Given the description of an element on the screen output the (x, y) to click on. 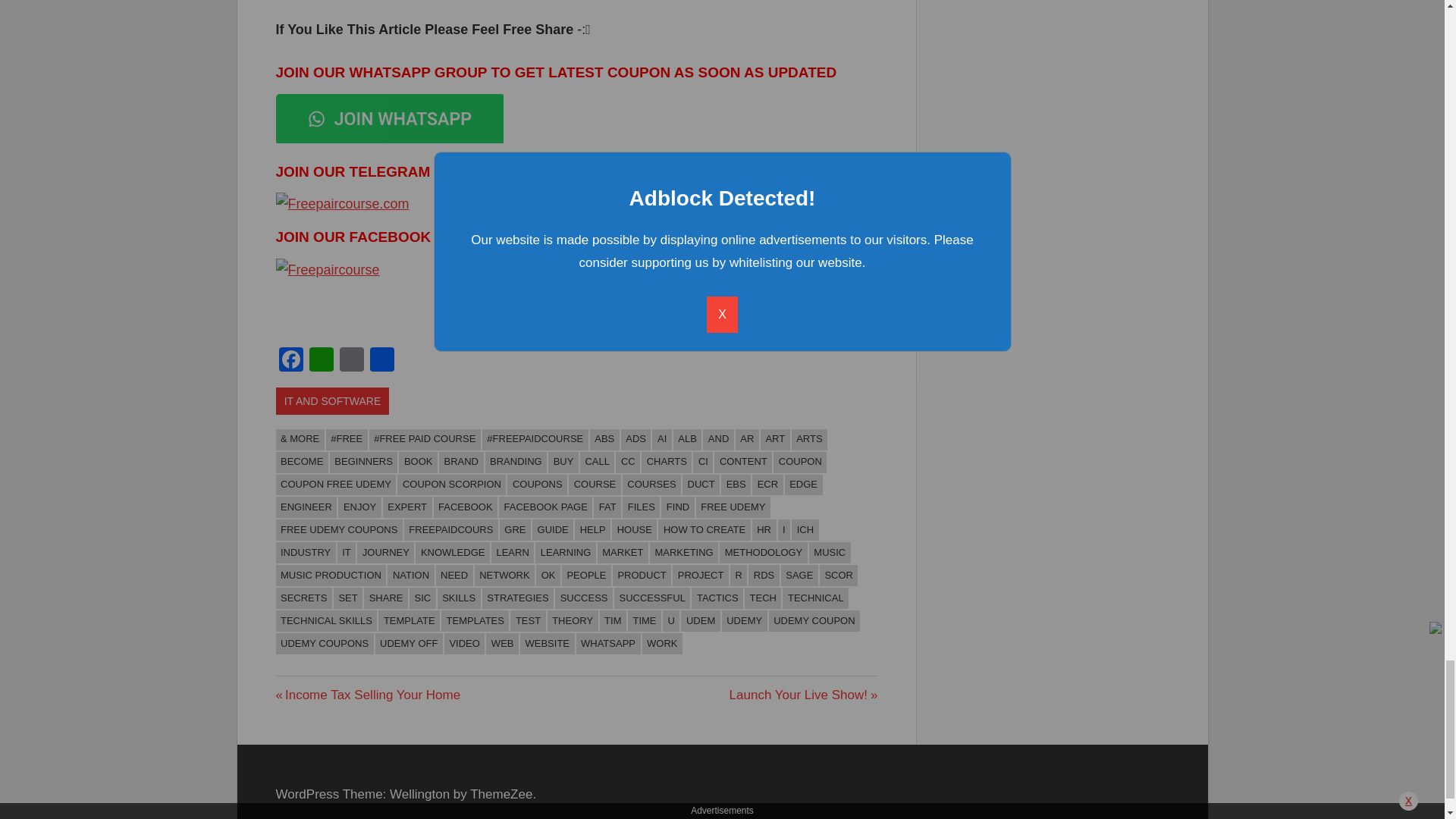
BECOME (302, 462)
AR (746, 439)
Facebook (290, 361)
IT AND SOFTWARE (333, 400)
Ableton - How To Create MIDI, Samples, Audio And More 5 (328, 270)
WhatsApp (320, 361)
AND (718, 439)
BEGINNERS (363, 462)
Ableton - How To Create MIDI, Samples, Audio And More 3 (389, 118)
Copy Link (351, 361)
